Given the description of an element on the screen output the (x, y) to click on. 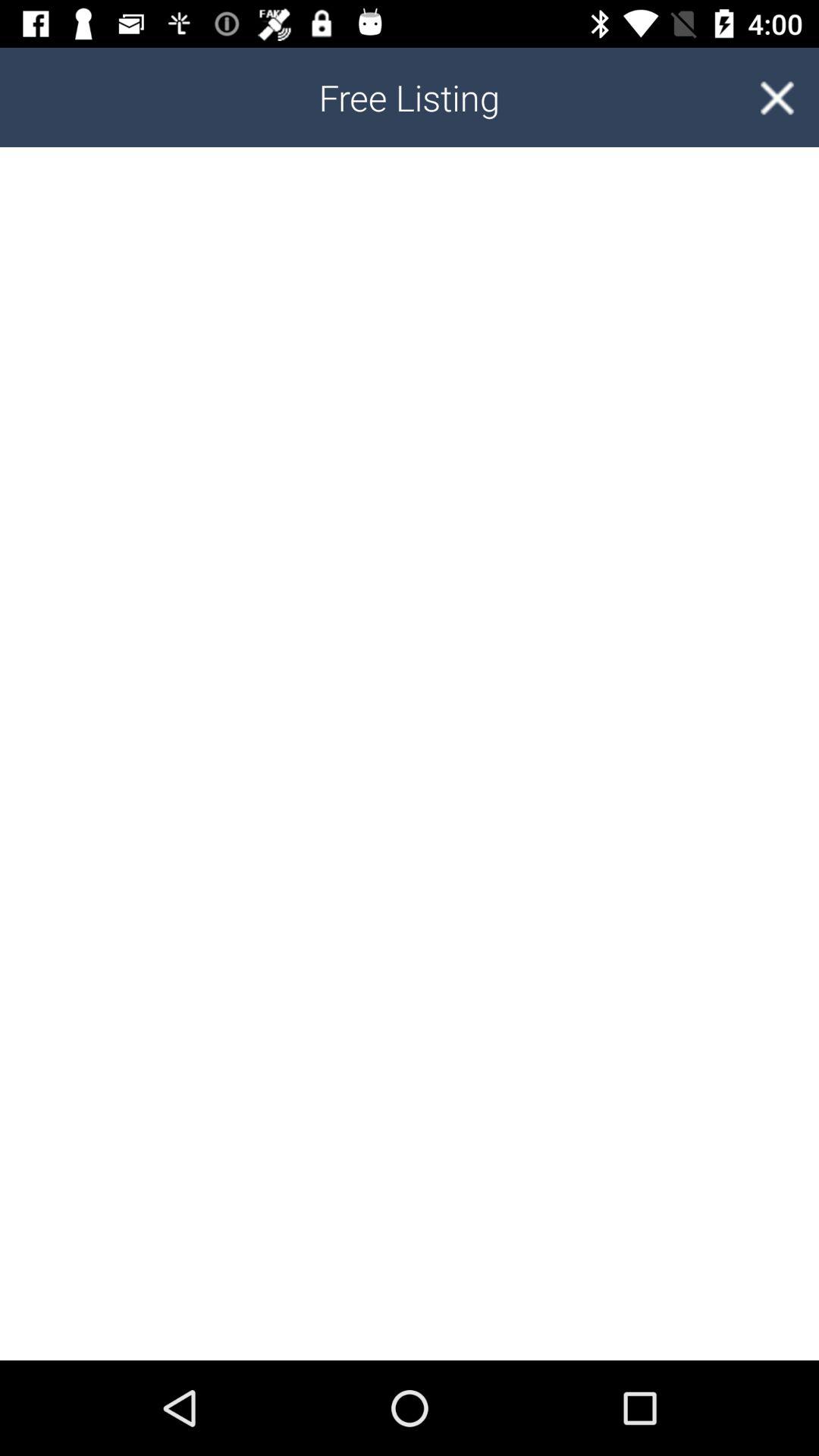
choose item at the top right corner (776, 97)
